Given the description of an element on the screen output the (x, y) to click on. 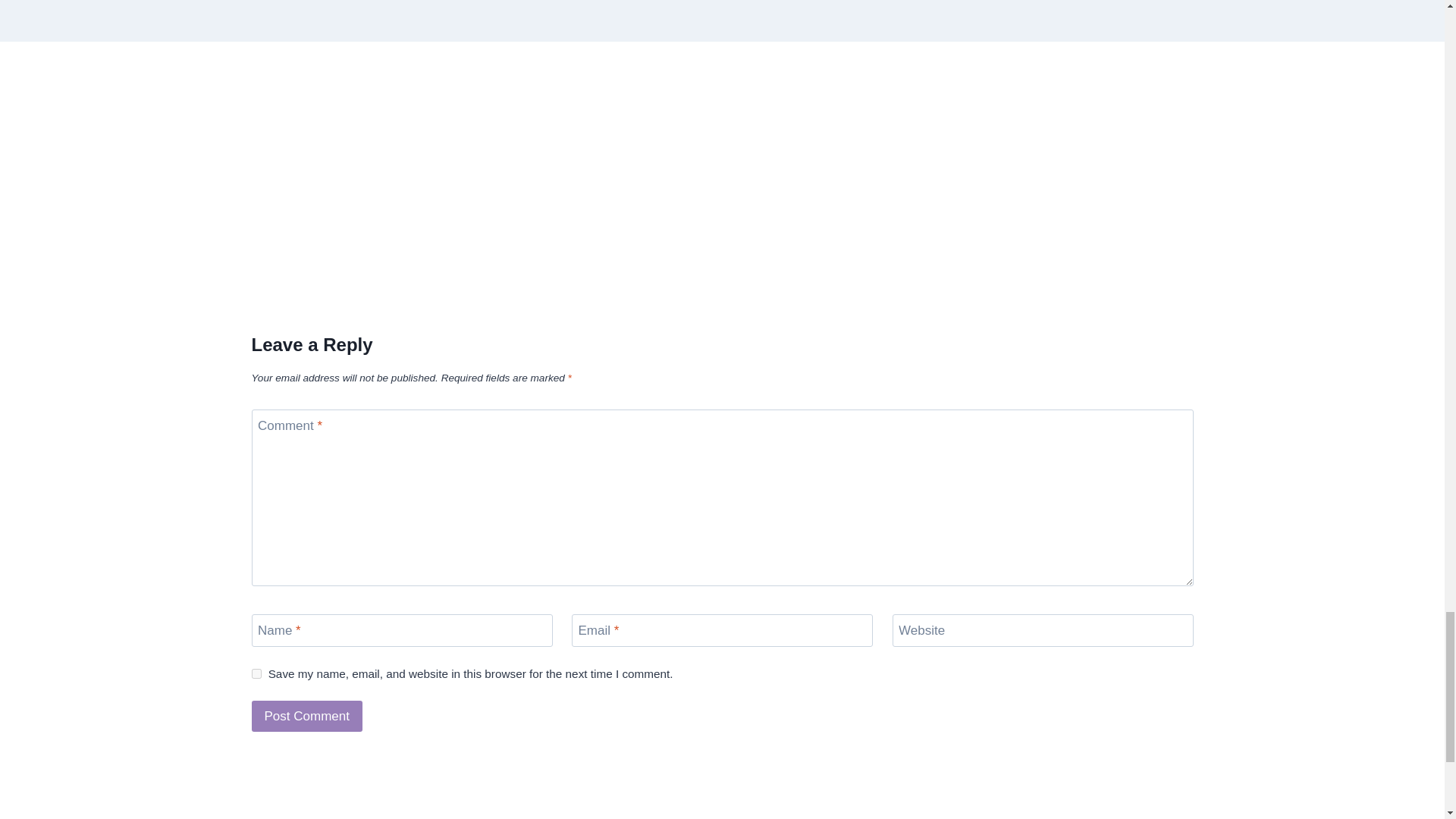
yes (256, 673)
Post Comment (306, 716)
